Given the description of an element on the screen output the (x, y) to click on. 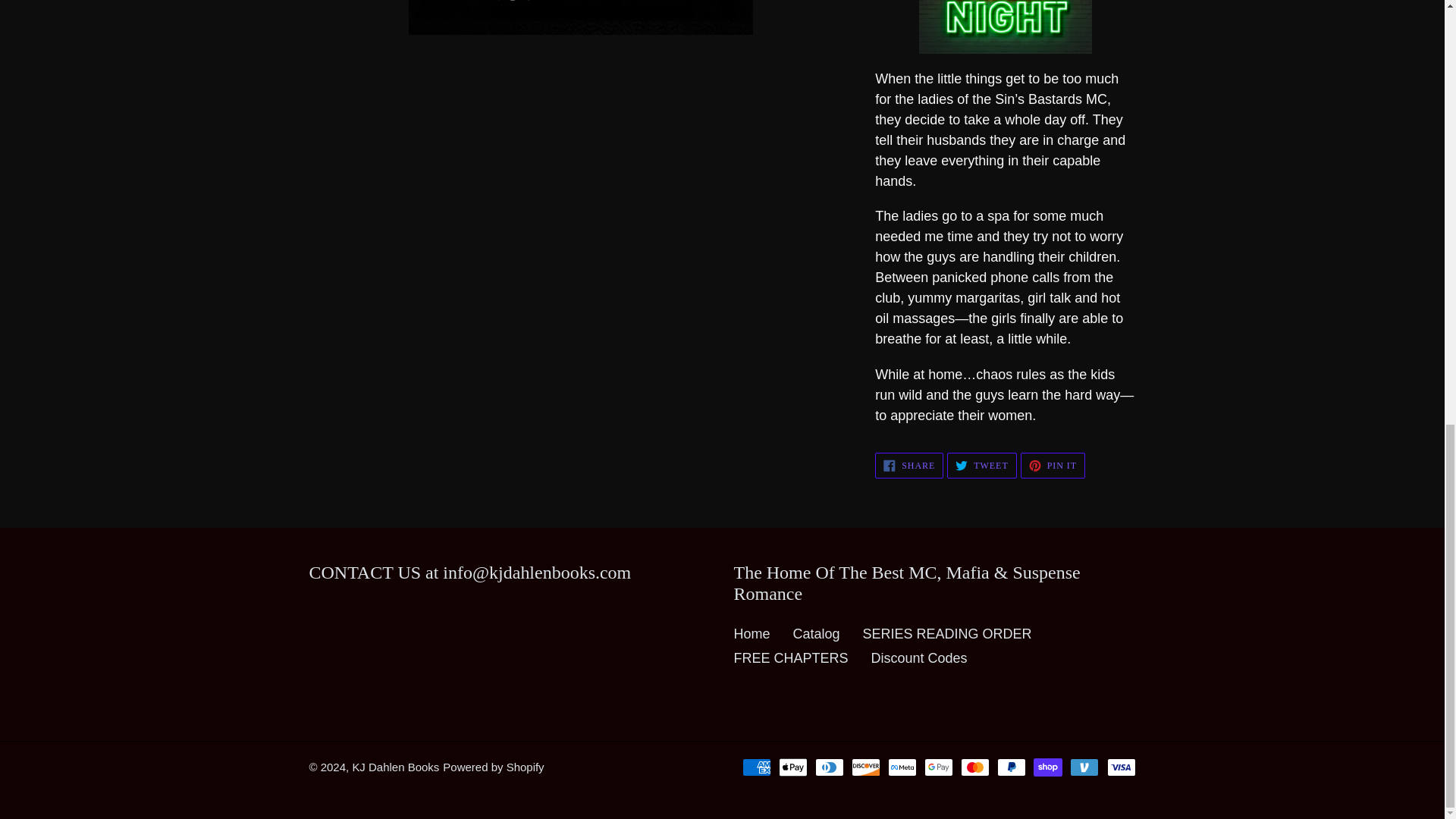
Discount Codes (909, 465)
SERIES READING ORDER (919, 657)
KJ Dahlen Books (1052, 465)
Home (947, 633)
Powered by Shopify (395, 766)
FREE CHAPTERS (751, 633)
Catalog (981, 465)
